Given the description of an element on the screen output the (x, y) to click on. 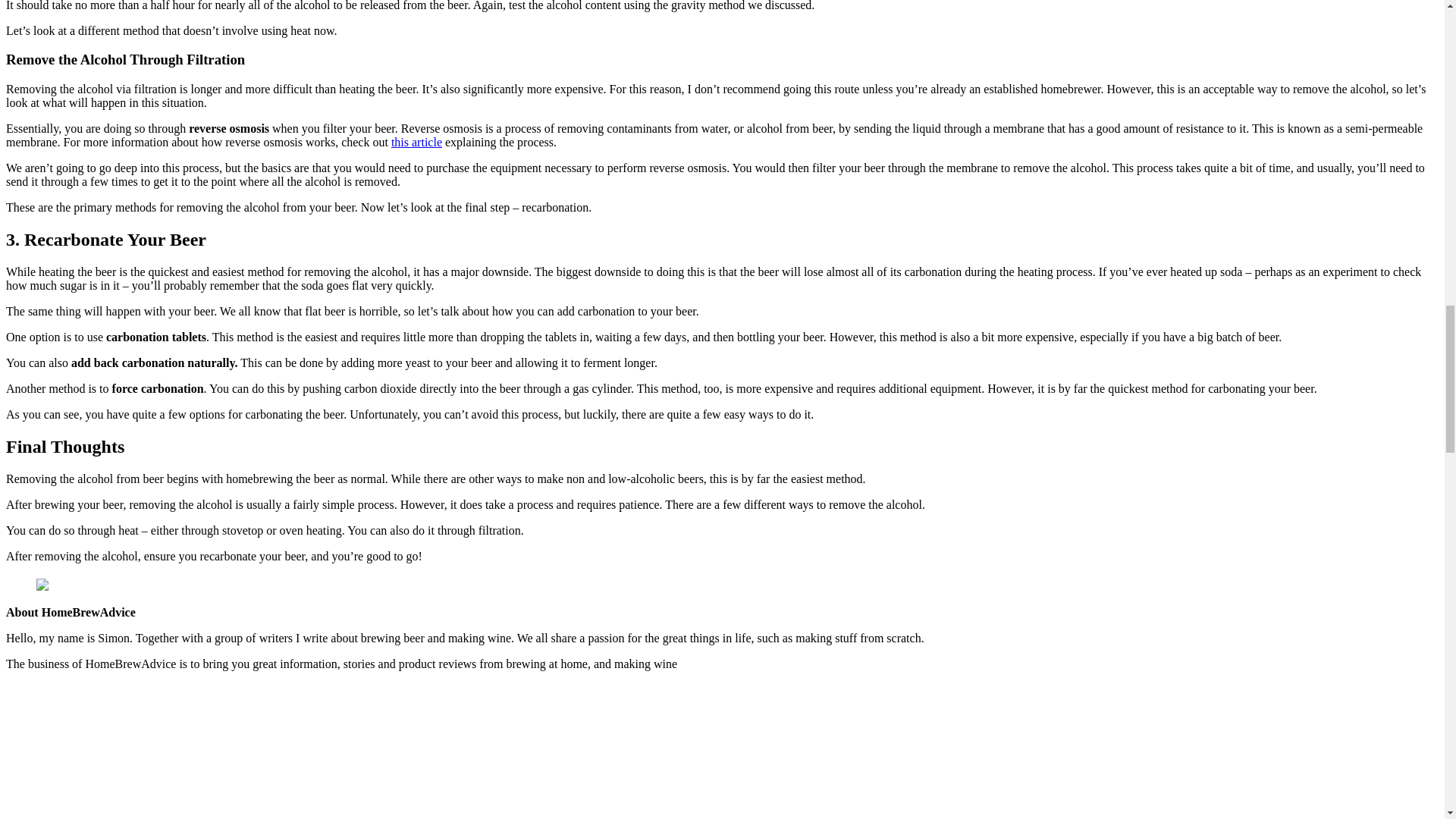
this article (416, 141)
